Given the description of an element on the screen output the (x, y) to click on. 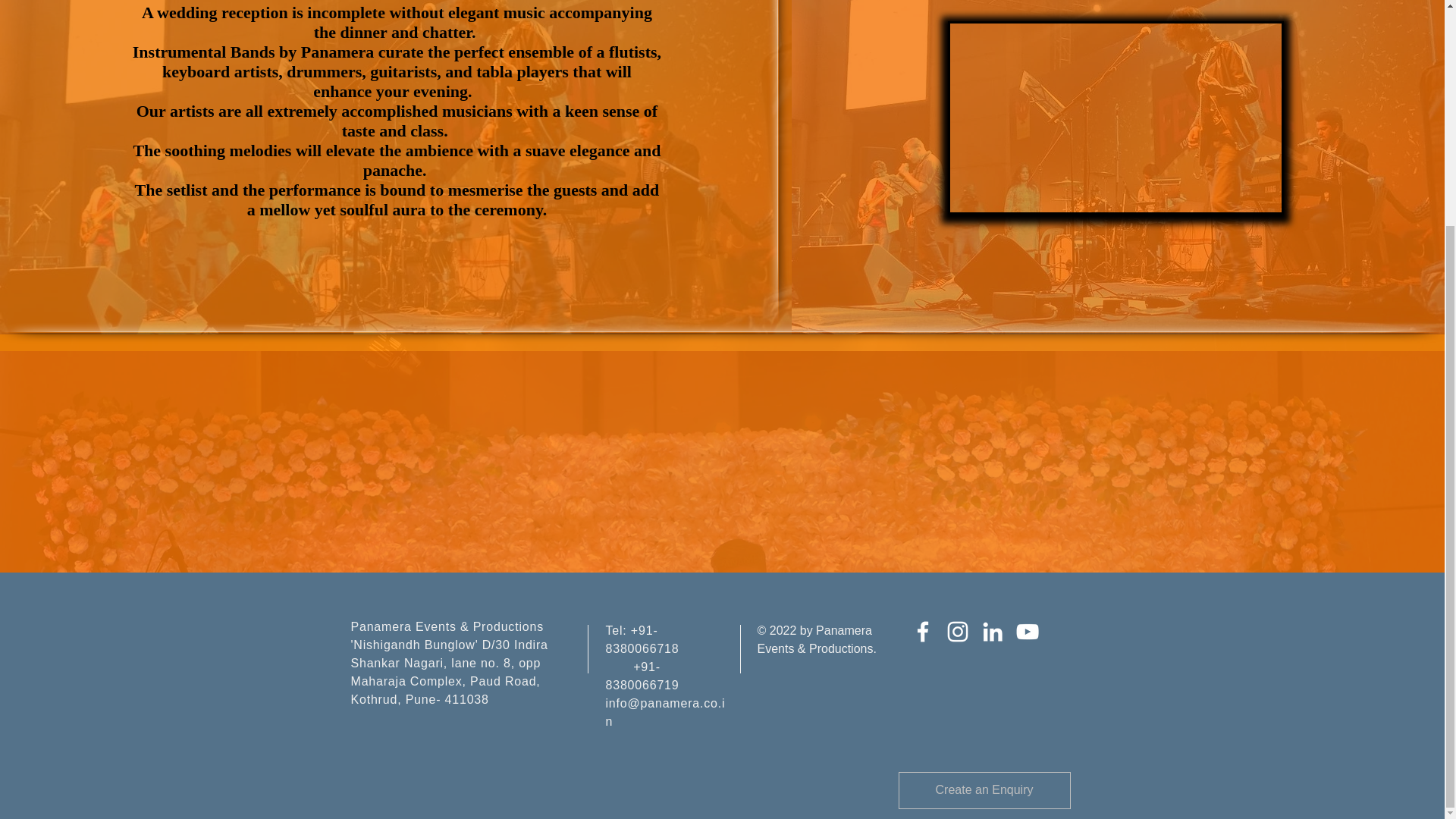
Create an Enquiry (984, 790)
